Given the description of an element on the screen output the (x, y) to click on. 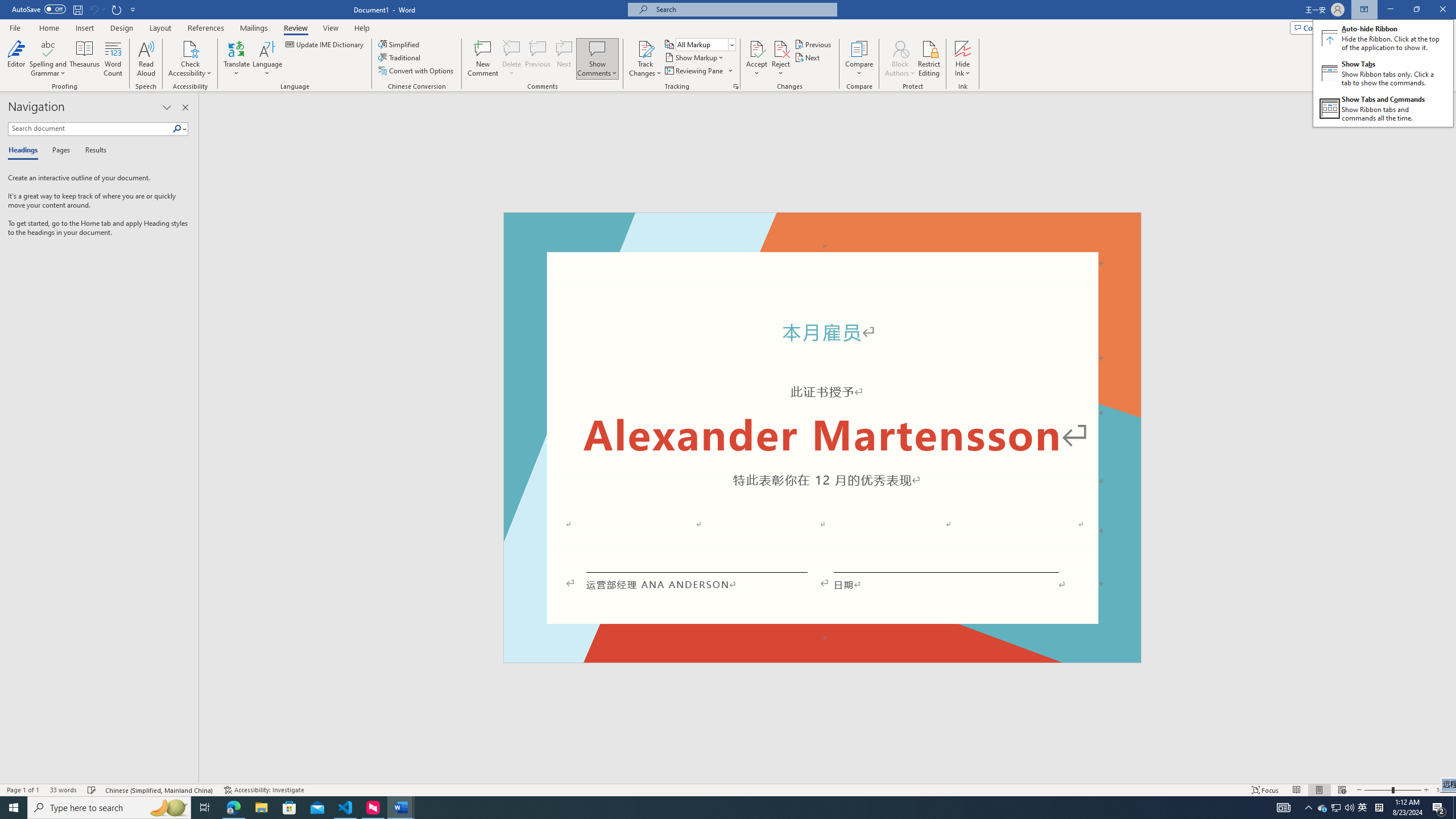
Show Comments (597, 58)
Close pane (185, 107)
Update IME Dictionary... (324, 44)
Compare (859, 58)
Page Number Page 1 of 1 (22, 790)
Display for Review (705, 44)
Search document (89, 128)
File Explorer (261, 807)
Traditional (400, 56)
Search highlights icon opens search home window (167, 807)
